Given the description of an element on the screen output the (x, y) to click on. 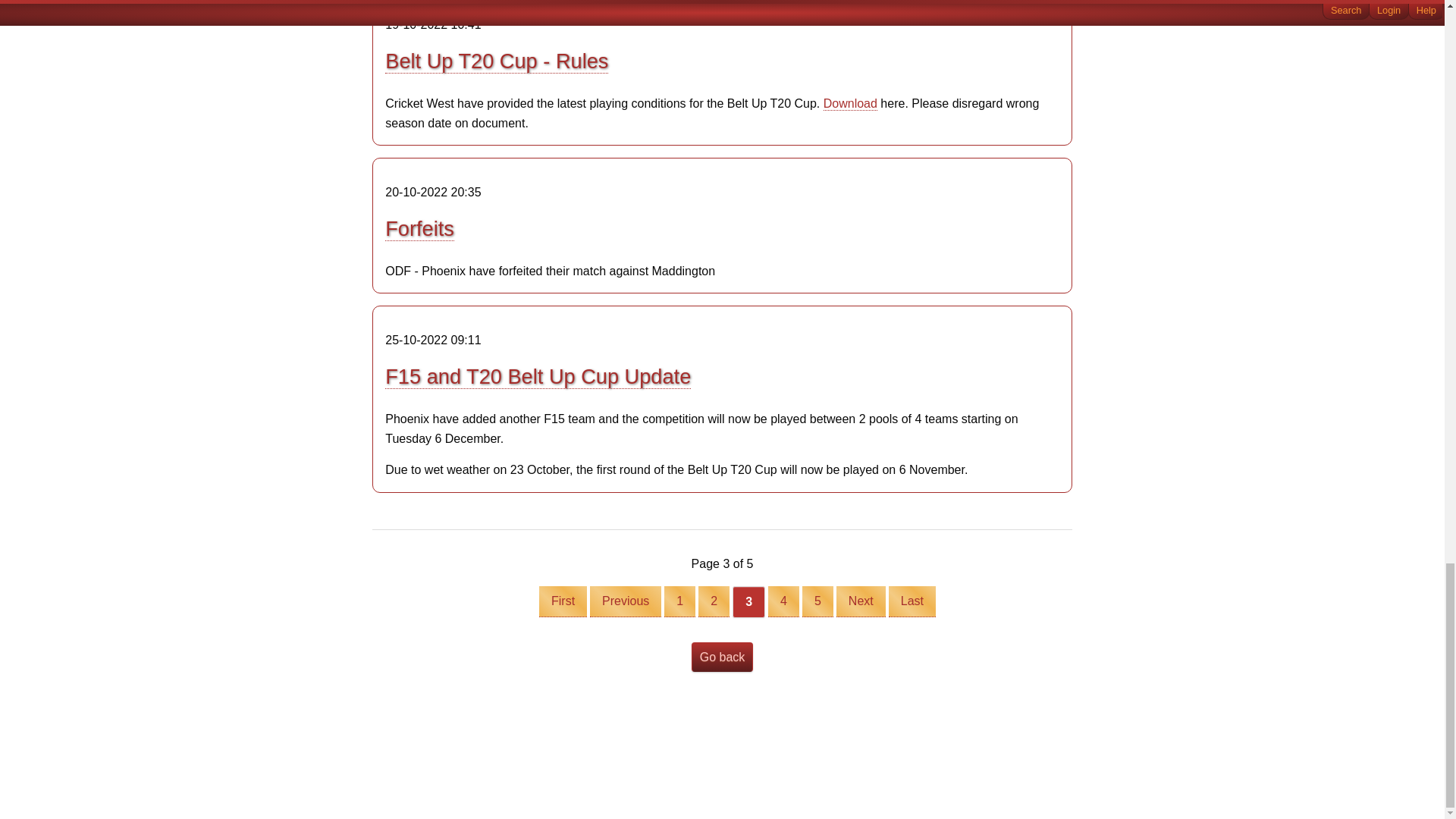
1 (679, 601)
F15 and T20 Belt Up Cup Update (537, 376)
Go to page 1 (679, 601)
Forfeits (419, 228)
Go back (722, 657)
Read the article: Forfeits (419, 228)
Last (912, 601)
4 (783, 601)
Belt Up T20 Cup - Rules (496, 61)
Previous (625, 601)
